Given the description of an element on the screen output the (x, y) to click on. 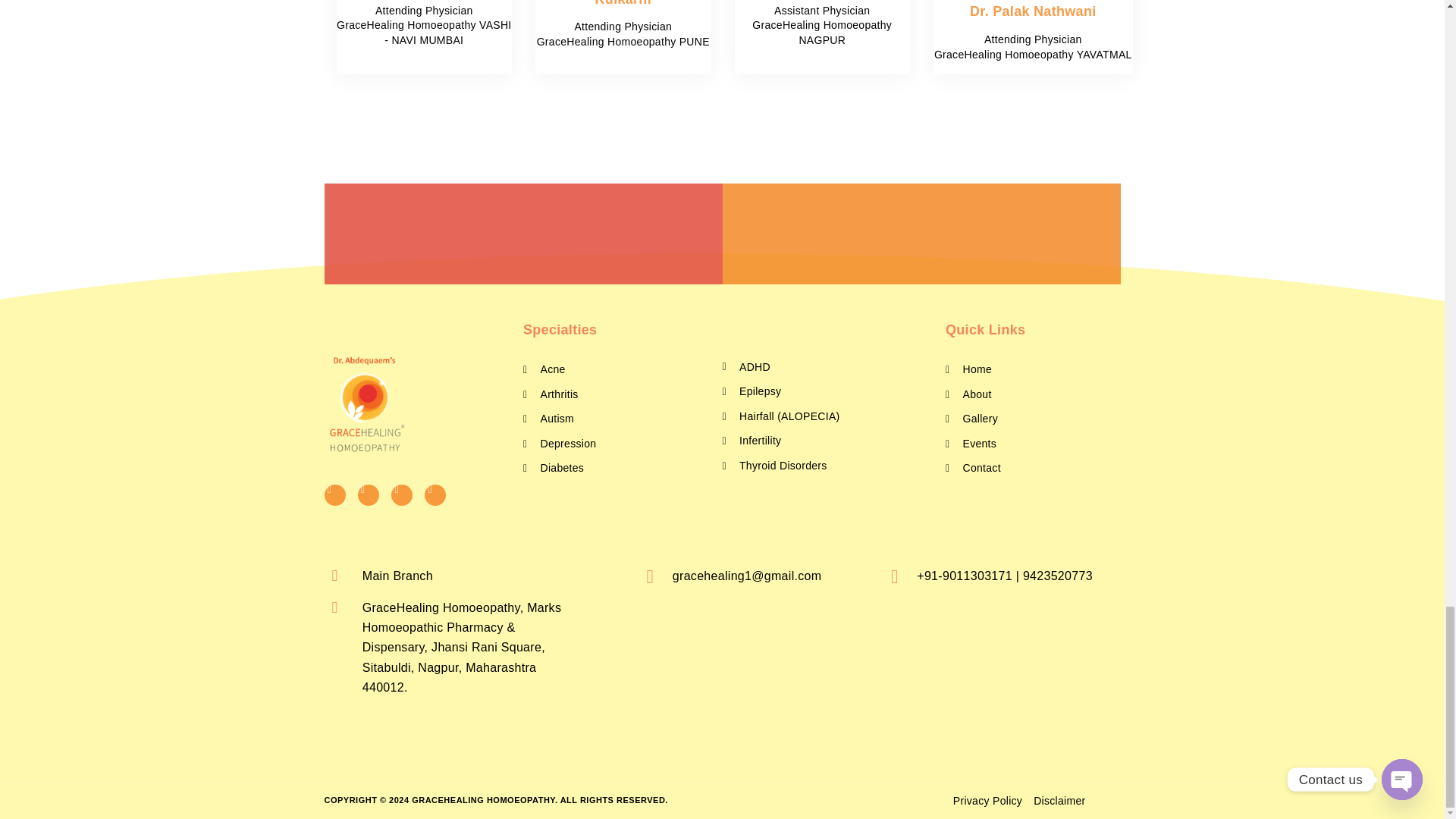
Dr. Meera Sangitrao Kulkarni (622, 3)
